Given the description of an element on the screen output the (x, y) to click on. 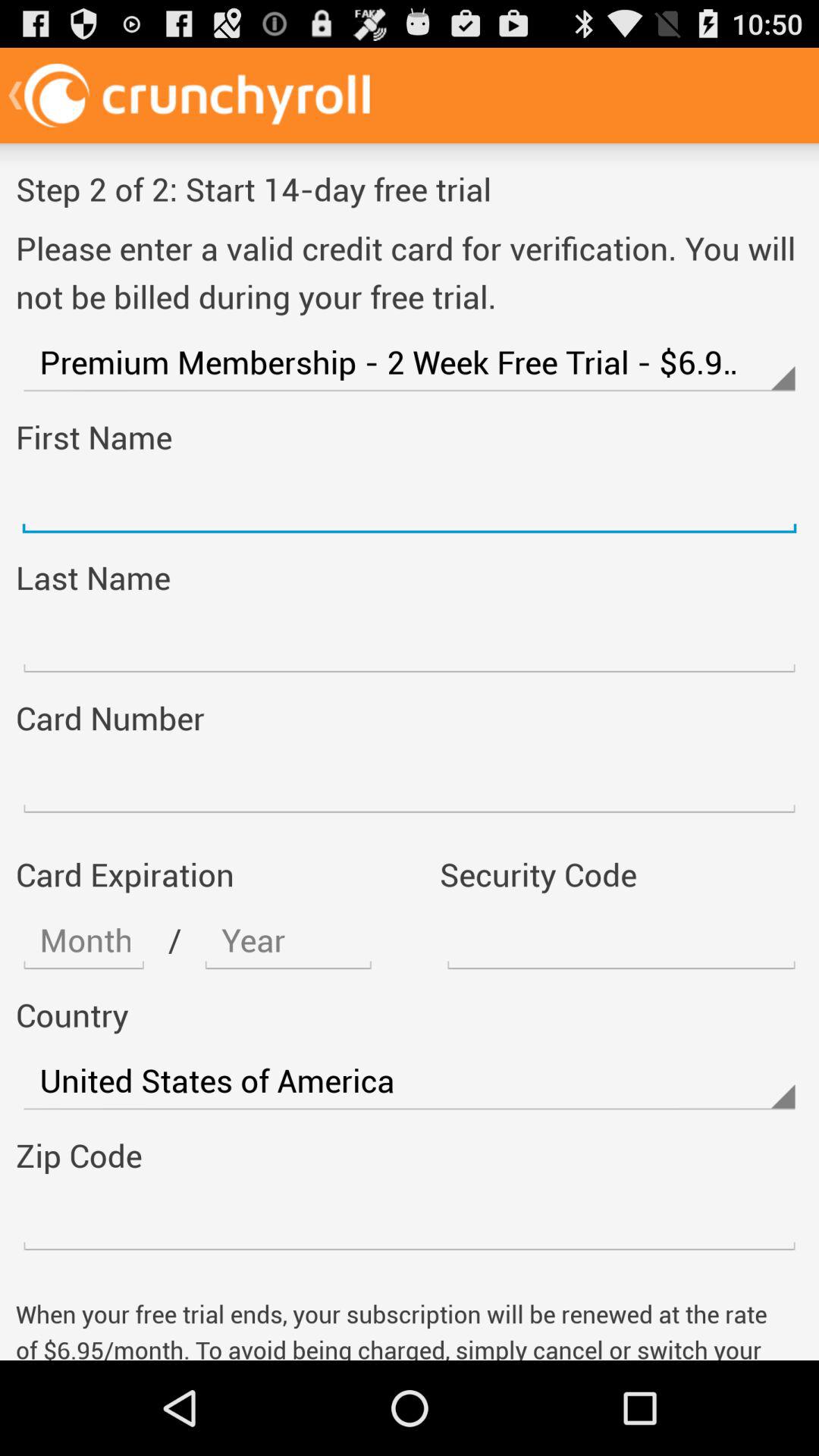
adress (83, 940)
